Given the description of an element on the screen output the (x, y) to click on. 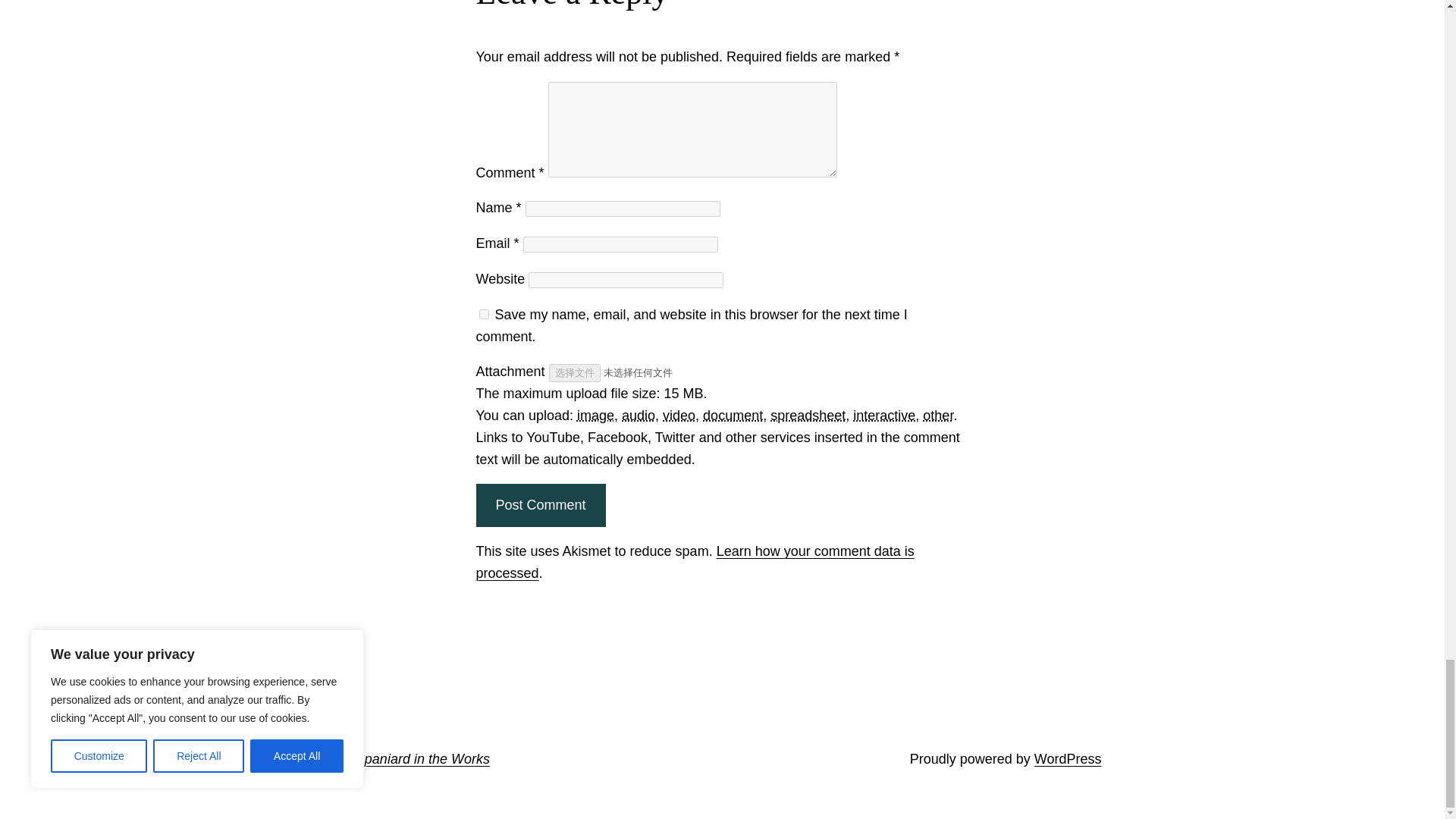
Post Comment (540, 505)
mov, qt, avi, mpeg, mpg, 3gp, 3gpp, 3g2, mp4, m4v, ogv, flv (678, 415)
pdf, doc, docx, docm, odt (732, 415)
mpe, 3gp2, mid, midi, pot, xla, xlt, xlw, webm (938, 415)
pps, ppt, pptx, pptm, ppsx, ppsm, key (884, 415)
jpg, jpeg, jpe, png, gif, webp (595, 415)
mp3, m4a, m4b, ogg, oga, flac, wav (638, 415)
Learn how your comment data is processed (695, 561)
A Spaniard in the Works (415, 758)
xls, xlsx, xlsm, xlsb (807, 415)
